Given the description of an element on the screen output the (x, y) to click on. 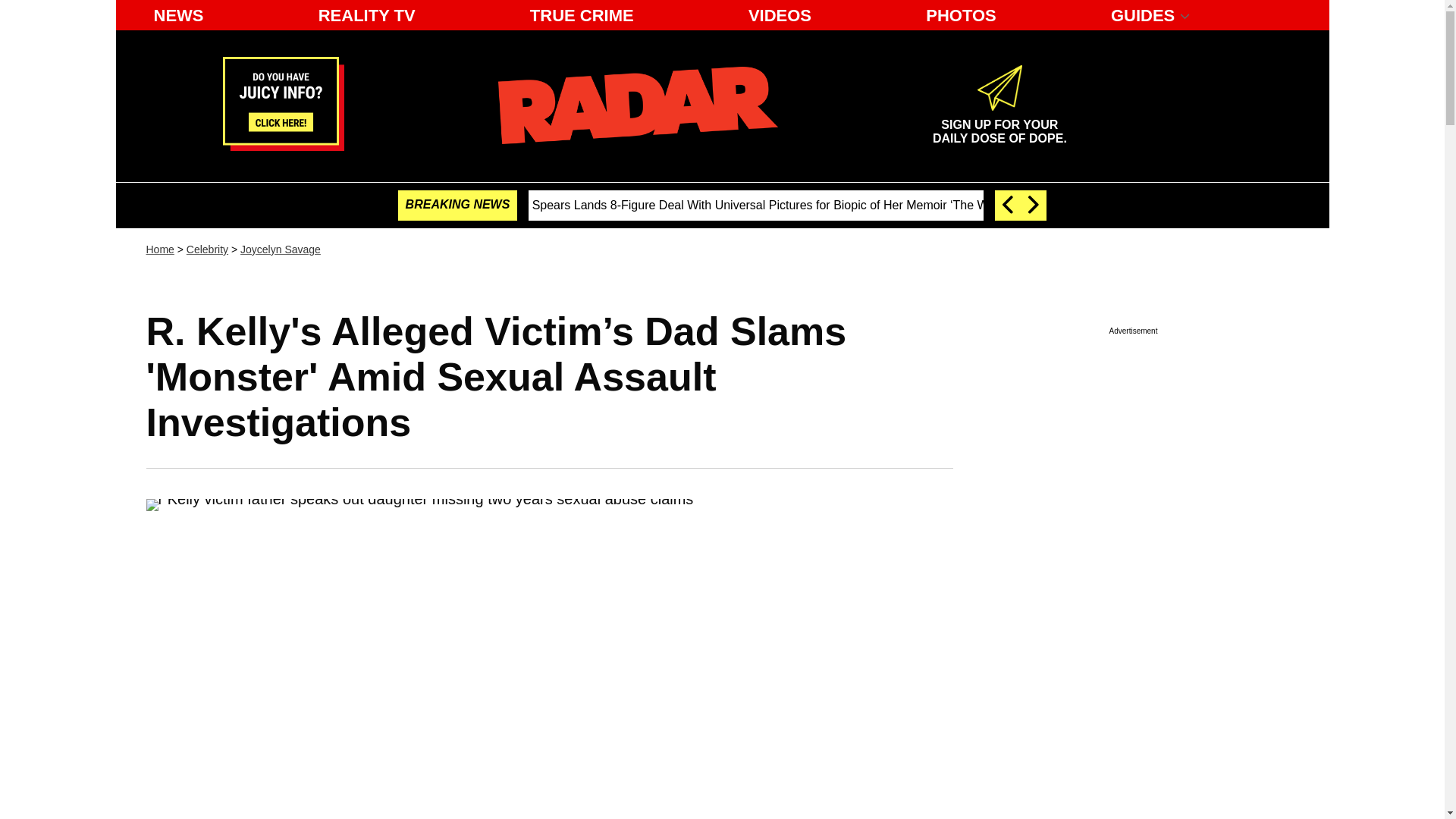
VIDEOS (779, 15)
NEWS (178, 15)
Radar Online (637, 105)
Email us your tip (282, 146)
REALITY TV (367, 15)
TRUE CRIME (582, 15)
Joycelyn Savage (280, 249)
Celebrity (207, 249)
Sign up for your daily dose of dope. (999, 124)
Home (999, 124)
PHOTOS (159, 249)
